Given the description of an element on the screen output the (x, y) to click on. 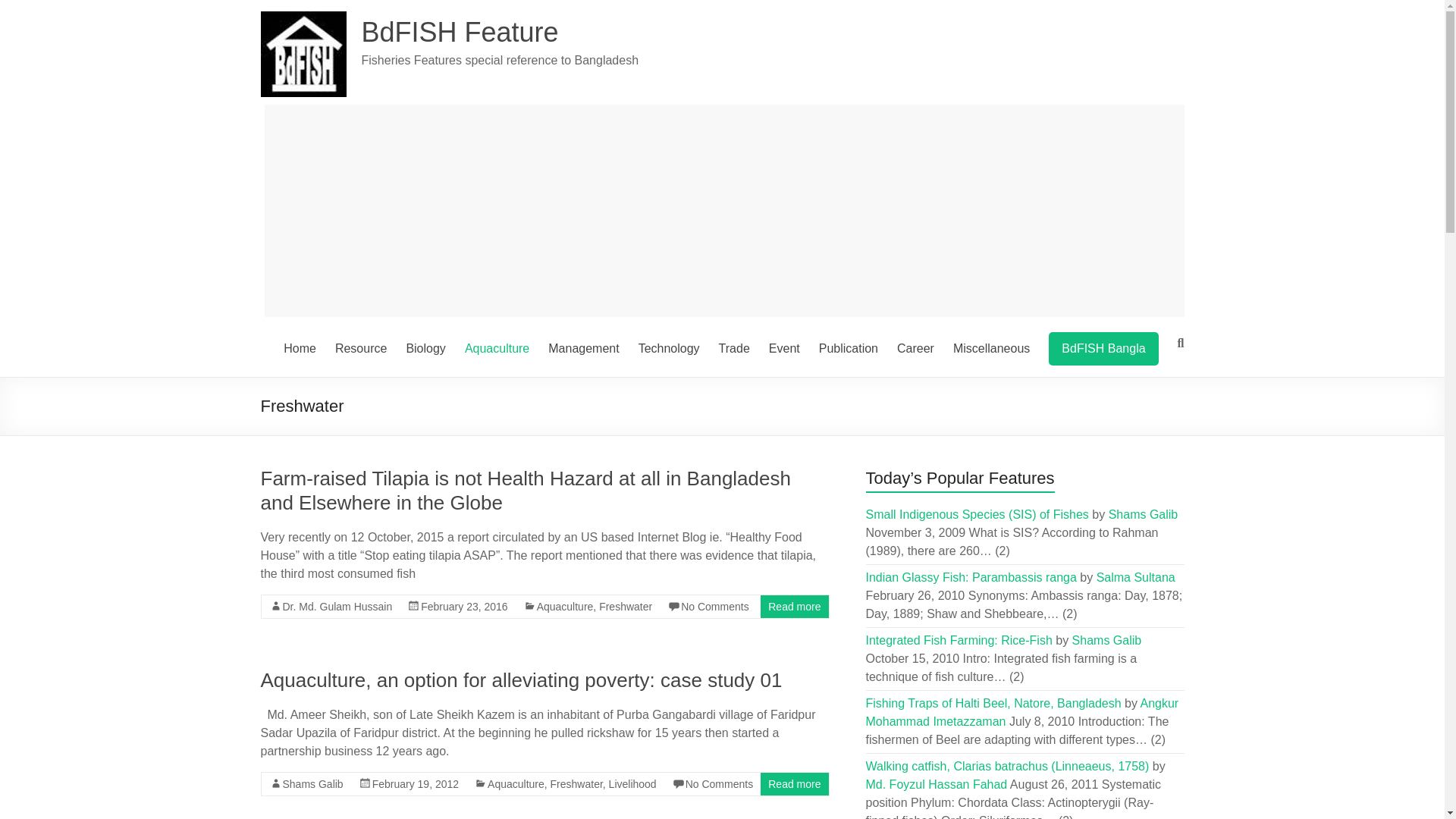
Home (299, 348)
Management (583, 348)
12:48 pm (463, 606)
Resource (360, 348)
BdFISH Feature (459, 31)
Biology (425, 348)
8:13 pm (415, 784)
BdFISH Feature (459, 31)
